Given the description of an element on the screen output the (x, y) to click on. 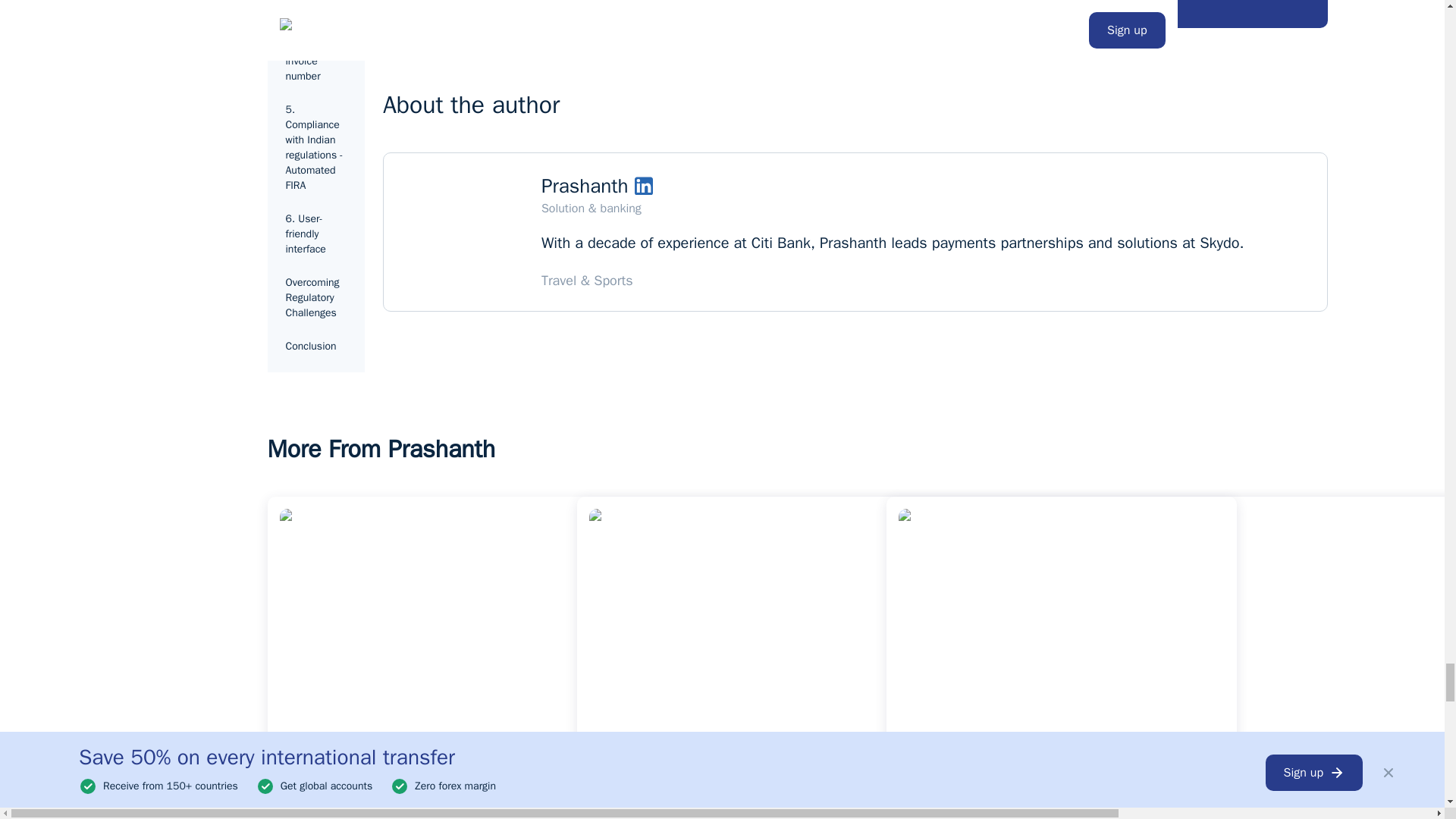
Sign up (463, 4)
Prashanth (584, 185)
